Given the description of an element on the screen output the (x, y) to click on. 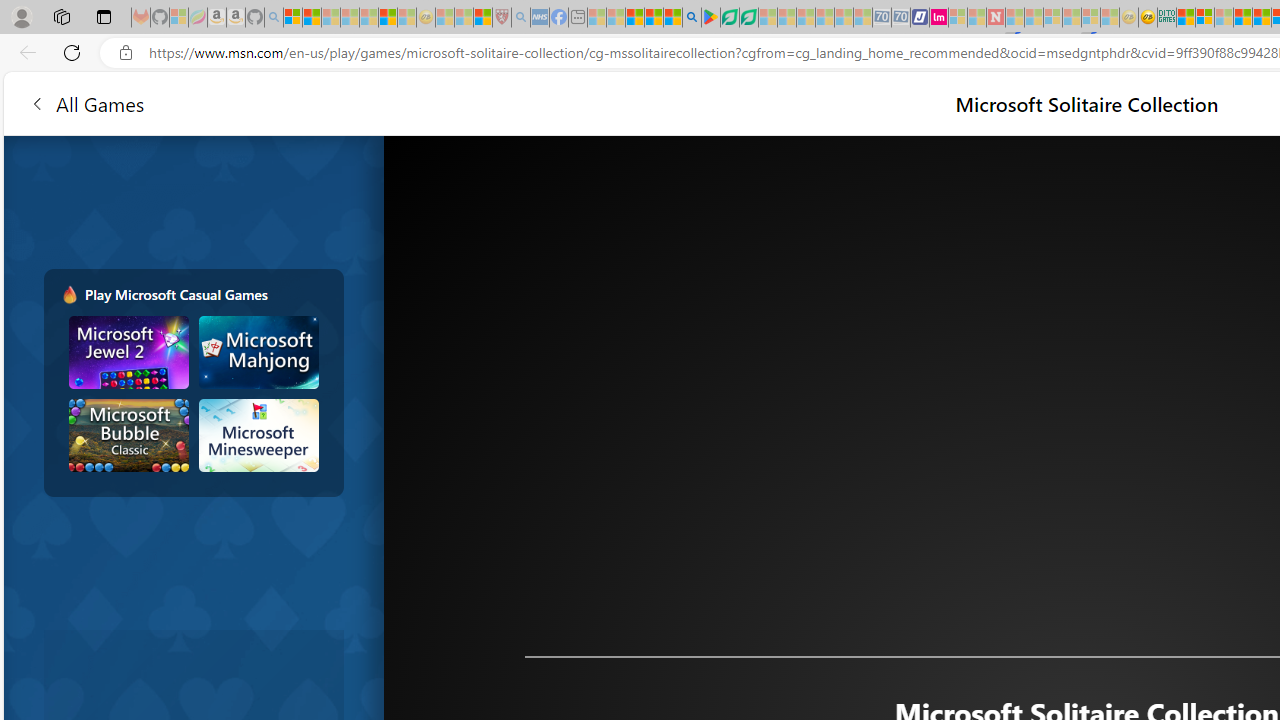
Pets - MSN (654, 17)
Fire icon (69, 294)
Robert H. Shmerling, MD - Harvard Health - Sleeping (501, 17)
The Weather Channel - MSN - Sleeping (331, 17)
All Games (380, 102)
MSNBC - MSN - Sleeping (596, 17)
14 Common Myths Debunked By Scientific Facts - Sleeping (1034, 17)
